Given the description of an element on the screen output the (x, y) to click on. 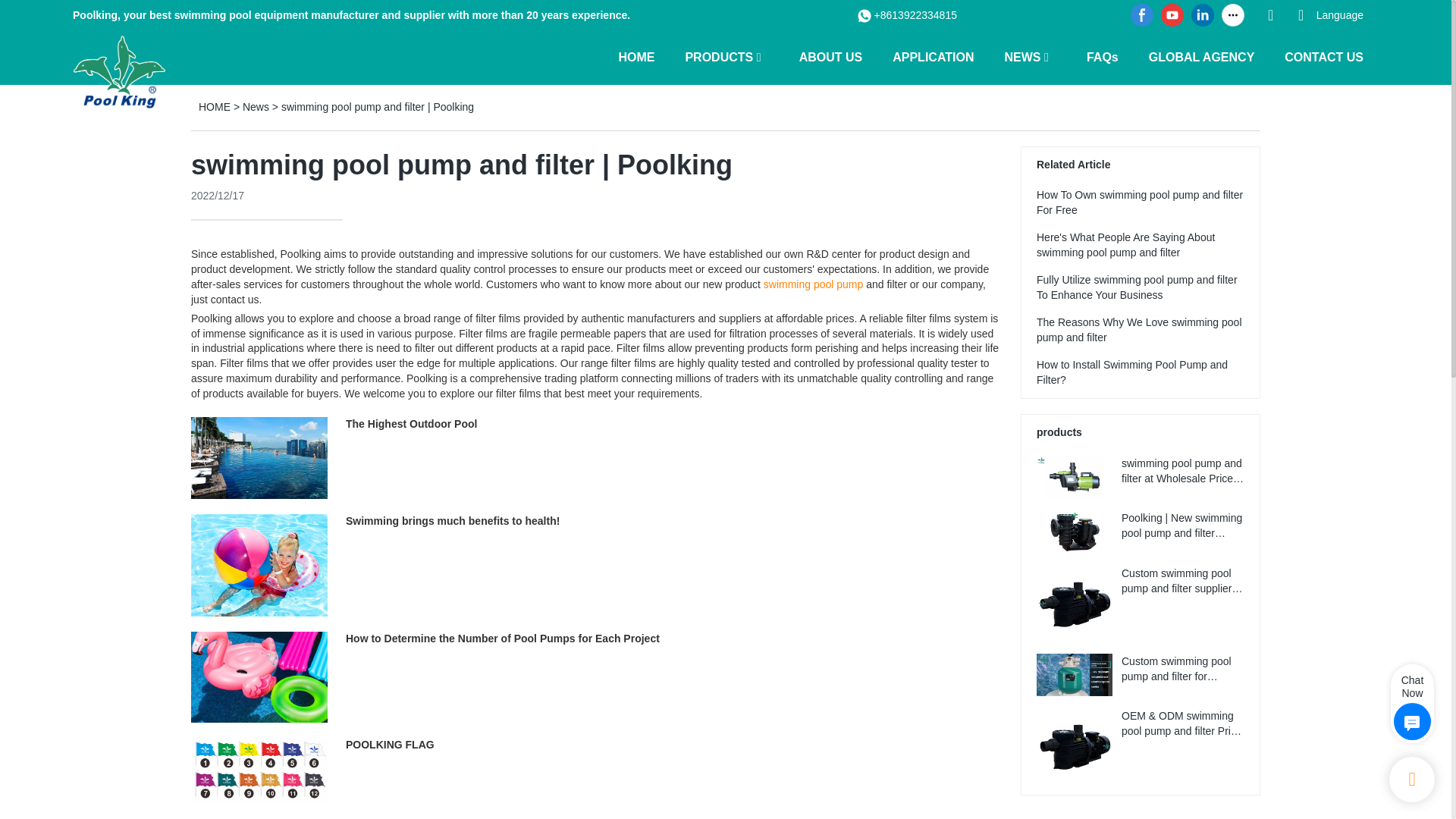
youtube (1172, 15)
swimming pool pump (812, 284)
facebook (1141, 15)
PRODUCTS (718, 56)
linkedin (1202, 15)
HOME (635, 56)
